Given the description of an element on the screen output the (x, y) to click on. 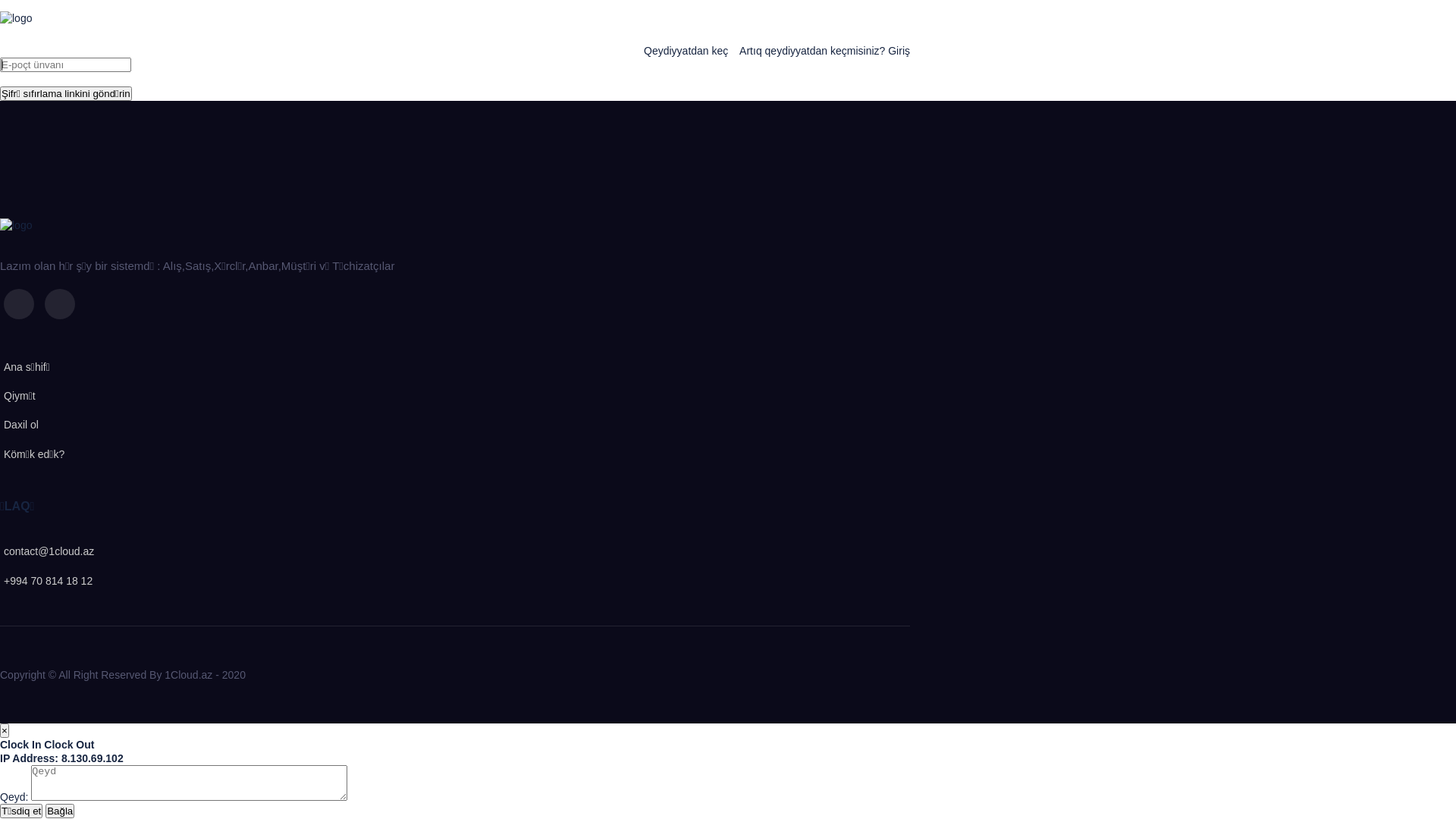
Daxil ol Element type: text (19, 424)
